Given the description of an element on the screen output the (x, y) to click on. 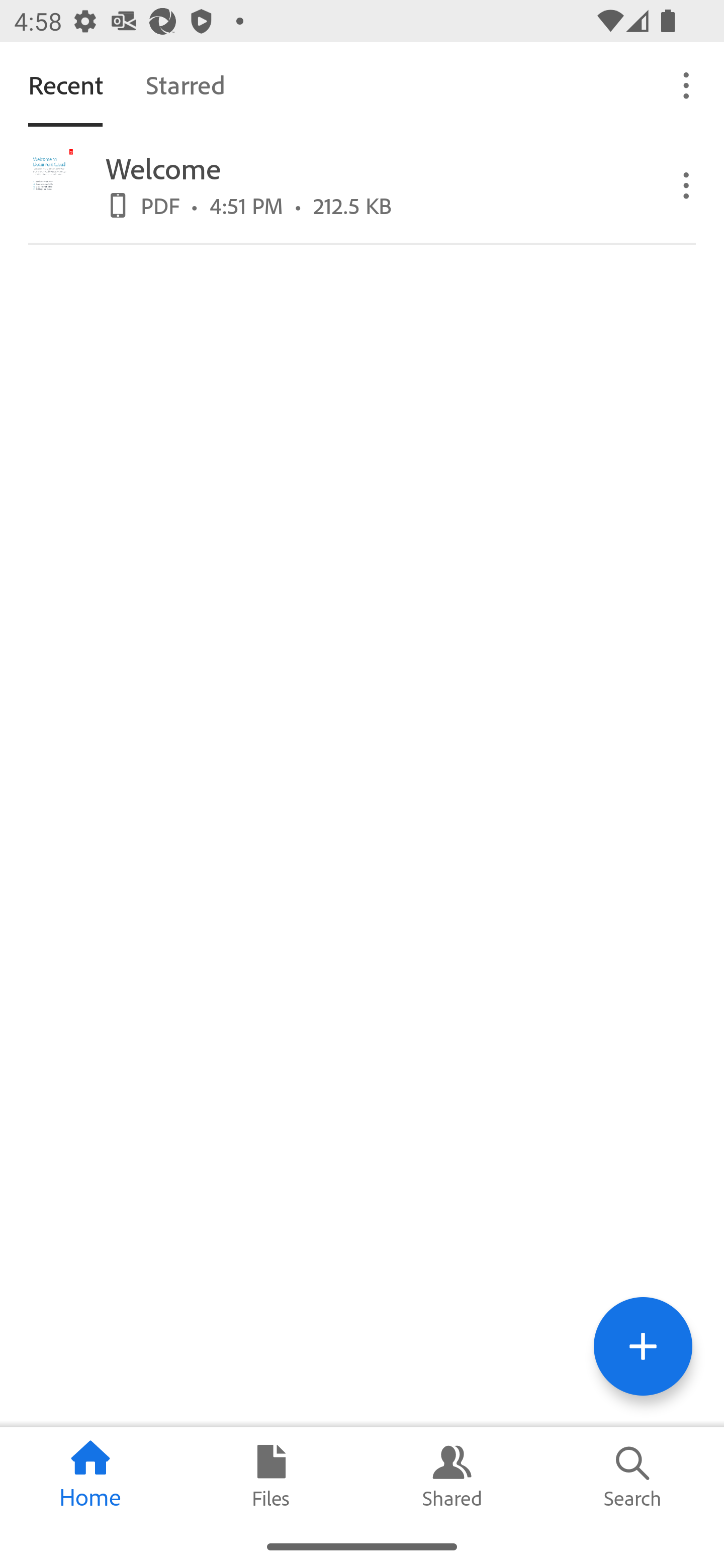
Recent (65, 84)
Starred (185, 84)
Overflow (687, 84)
Overflow (687, 184)
Tools (642, 1345)
Home (90, 1475)
Files (271, 1475)
Shared (452, 1475)
Search (633, 1475)
